Given the description of an element on the screen output the (x, y) to click on. 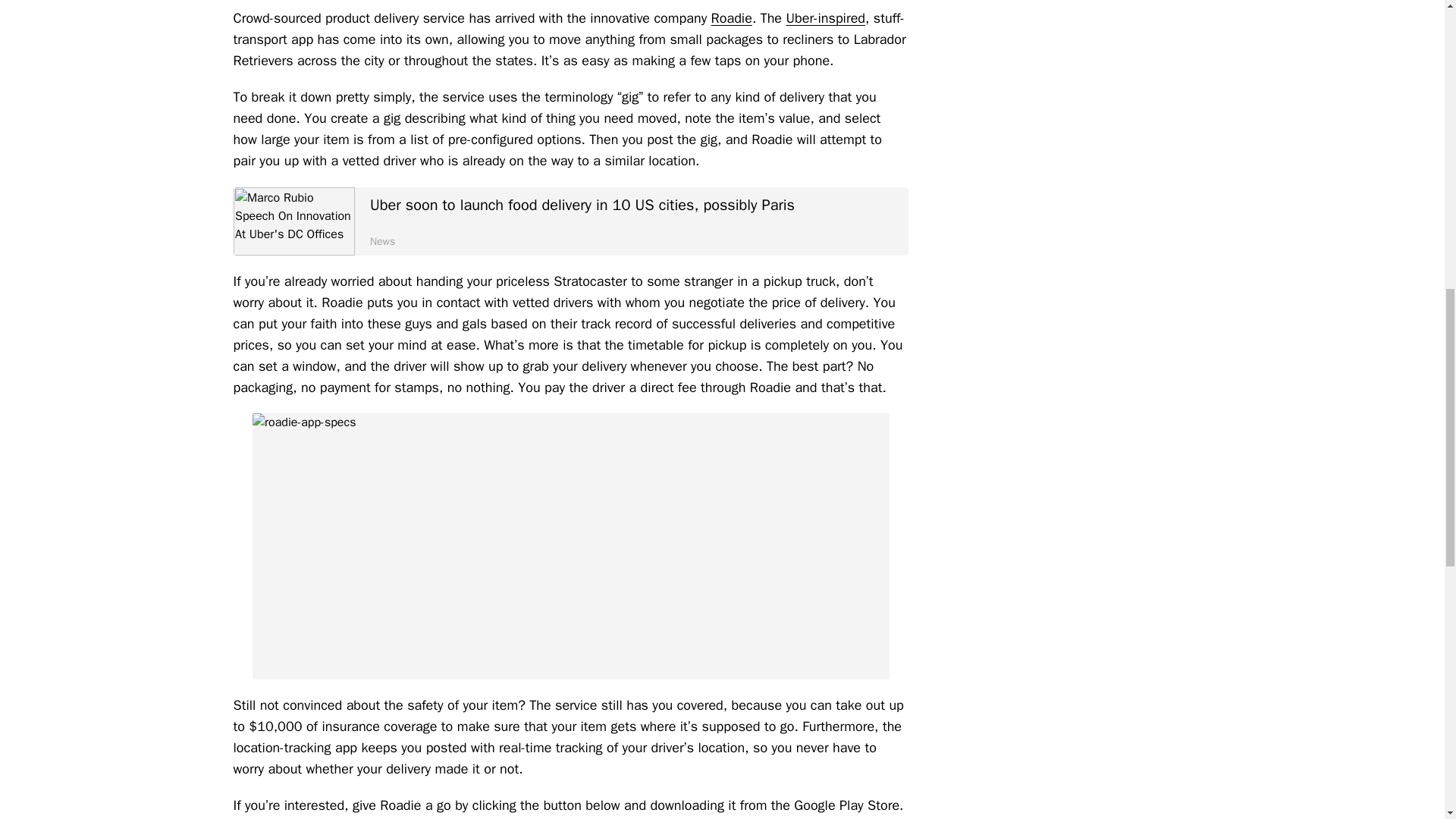
Marco Rubio Speech On Innovation At Uber's DC Offices (293, 221)
Roadie (731, 17)
Uber-inspired (825, 17)
